Given the description of an element on the screen output the (x, y) to click on. 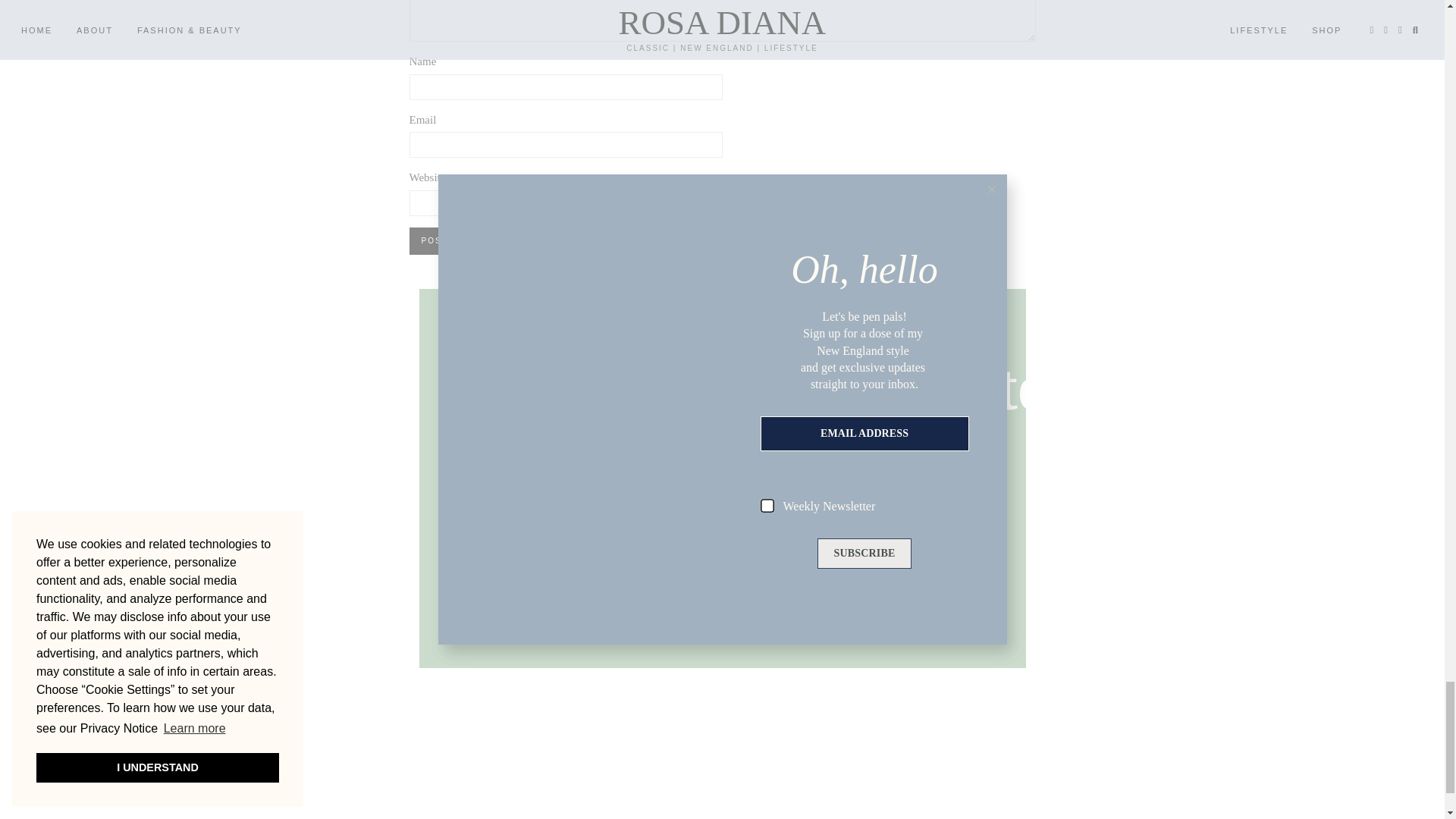
Post Comment (461, 240)
